Given the description of an element on the screen output the (x, y) to click on. 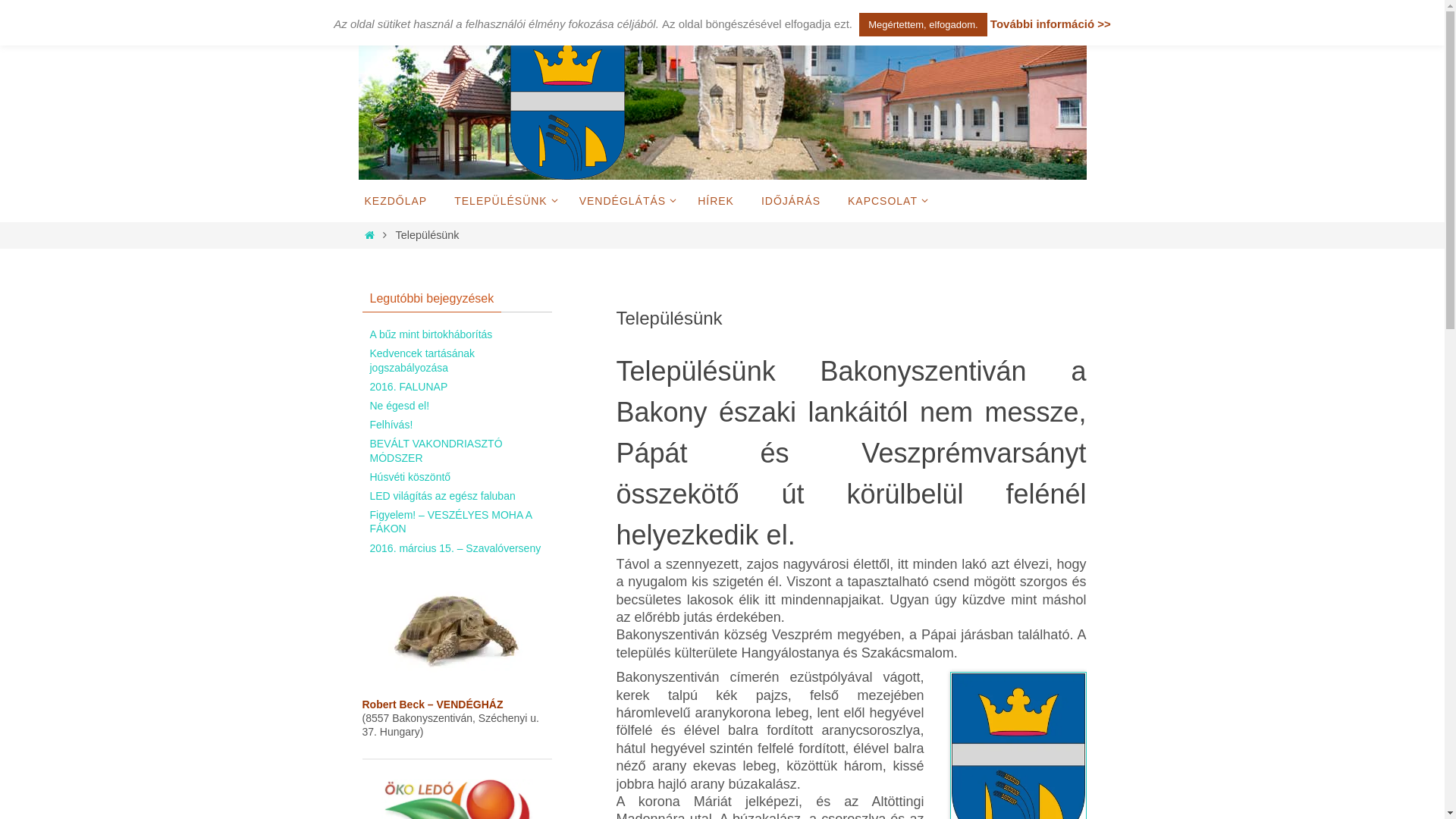
Mail Element type: hover (429, 15)
2016. FALUNAP Element type: text (409, 386)
Twitter Element type: hover (389, 15)
Facebook Element type: hover (409, 15)
YouTube Element type: hover (369, 15)
KAPCSOLAT Element type: text (884, 200)
